Given the description of an element on the screen output the (x, y) to click on. 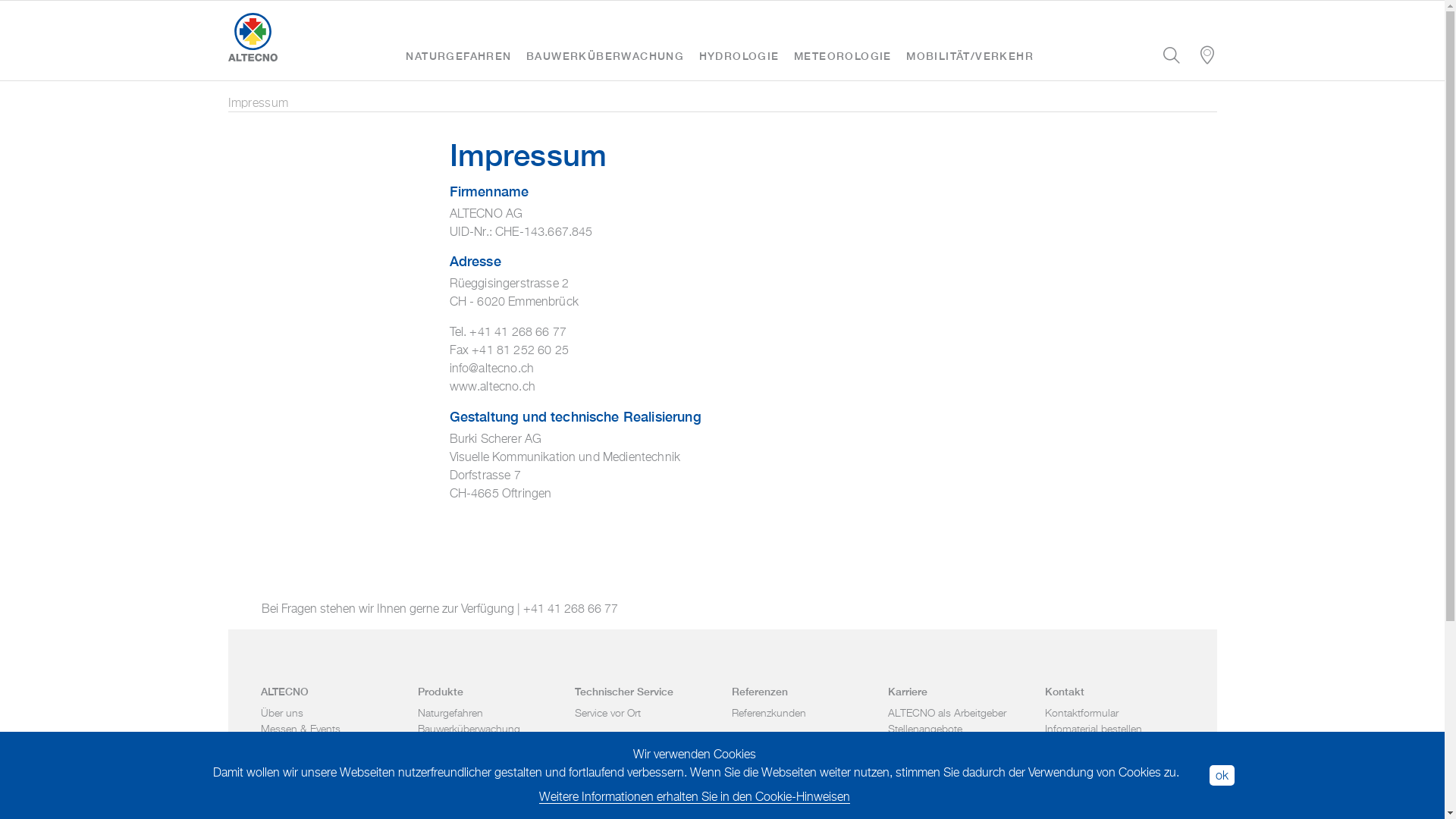
Service vor Ort Element type: text (607, 712)
Infomaterial bestellen Element type: text (1093, 728)
Naturgefahren Element type: text (450, 712)
ok Element type: text (1221, 775)
+41 41 268 66 77 Element type: text (570, 608)
Stellenangebote Element type: text (925, 728)
Anfahrt Element type: text (1061, 744)
Weitere Informationen erhalten Sie in den Cookie-Hinweisen Element type: text (694, 796)
Messen & Events Element type: text (300, 728)
Hydrologie Element type: text (442, 744)
Referenzkunden Element type: text (768, 712)
ALTECNO als Arbeitgeber Element type: text (947, 712)
Kontaktformular Element type: text (1081, 712)
News Element type: text (273, 744)
NATURGEFAHREN Element type: text (458, 56)
METEOROLOGIE Element type: text (842, 56)
Lehrstellen Element type: text (913, 744)
HYDROLOGIE Element type: text (739, 56)
Meteorologie Element type: text (447, 760)
